Given the description of an element on the screen output the (x, y) to click on. 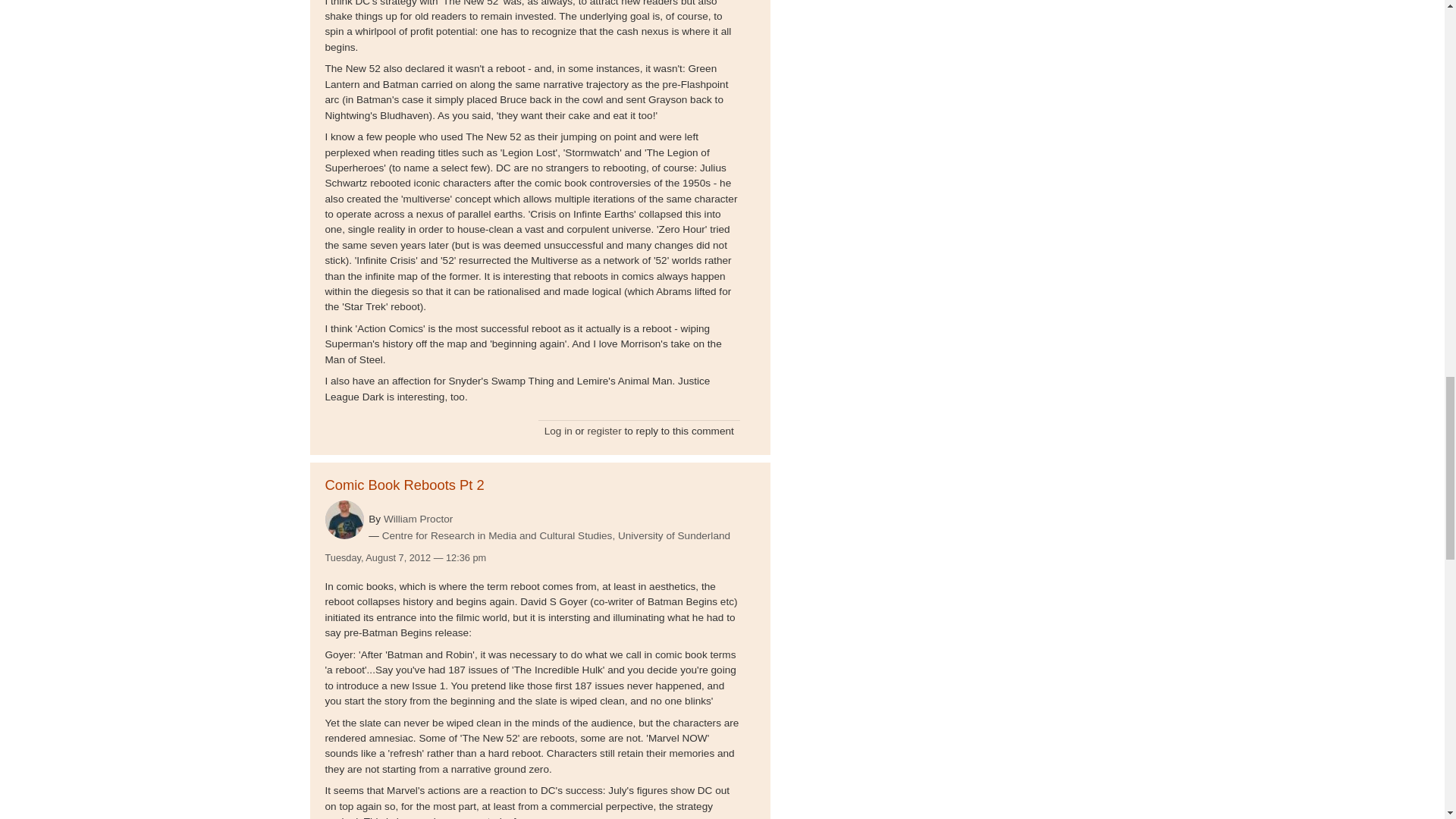
register (603, 430)
User profile: William Proctor (418, 518)
View user profile. (343, 519)
Log in (558, 430)
Comic Book Reboots Pt 2 (403, 484)
